Given the description of an element on the screen output the (x, y) to click on. 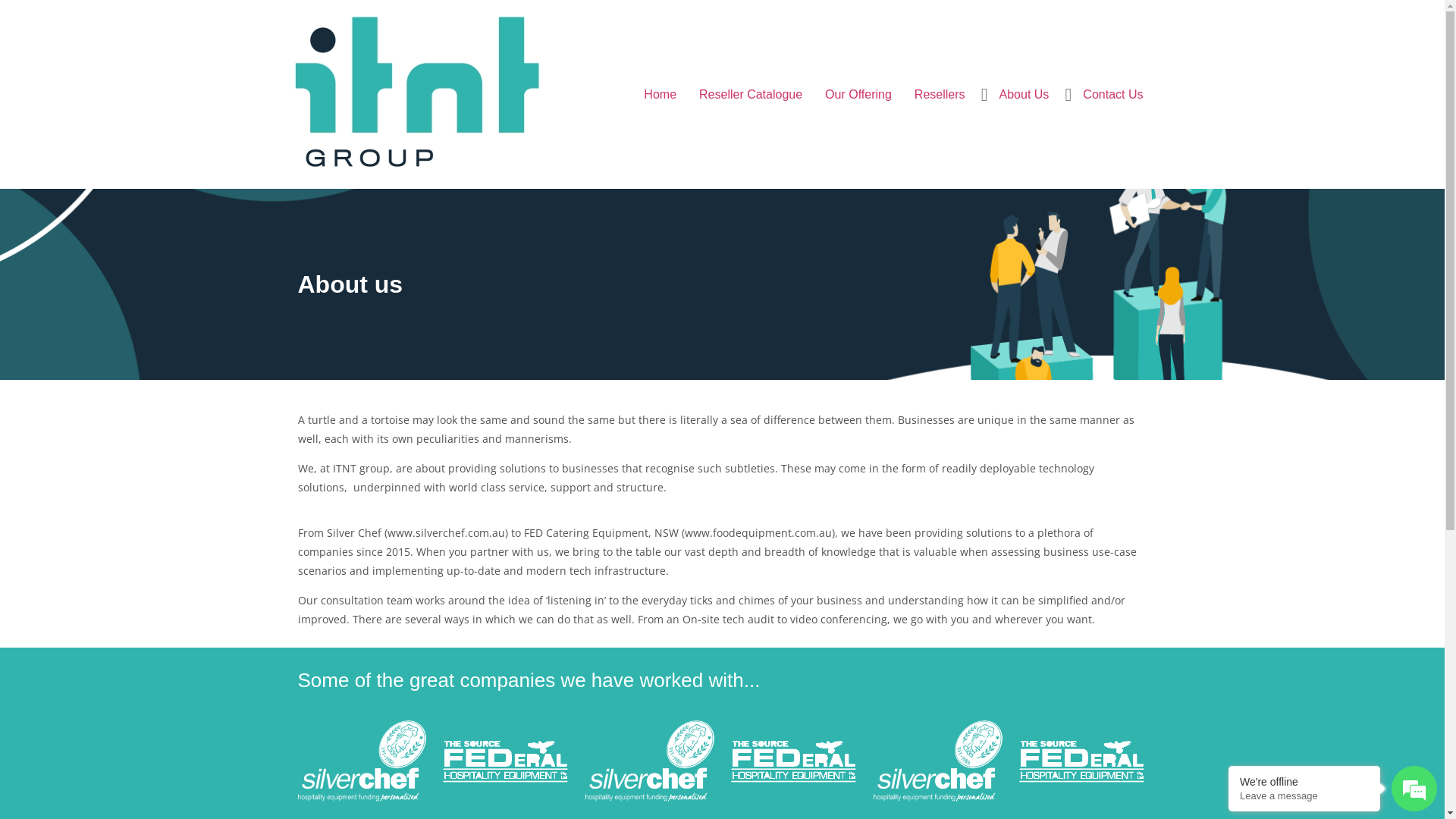
Reseller Catalogue Element type: text (750, 93)
Home Element type: text (659, 93)
Resellers Element type: text (939, 93)
Our Offering Element type: text (858, 93)
Contact Us Element type: text (1112, 93)
About Us Element type: text (1024, 93)
